Given the description of an element on the screen output the (x, y) to click on. 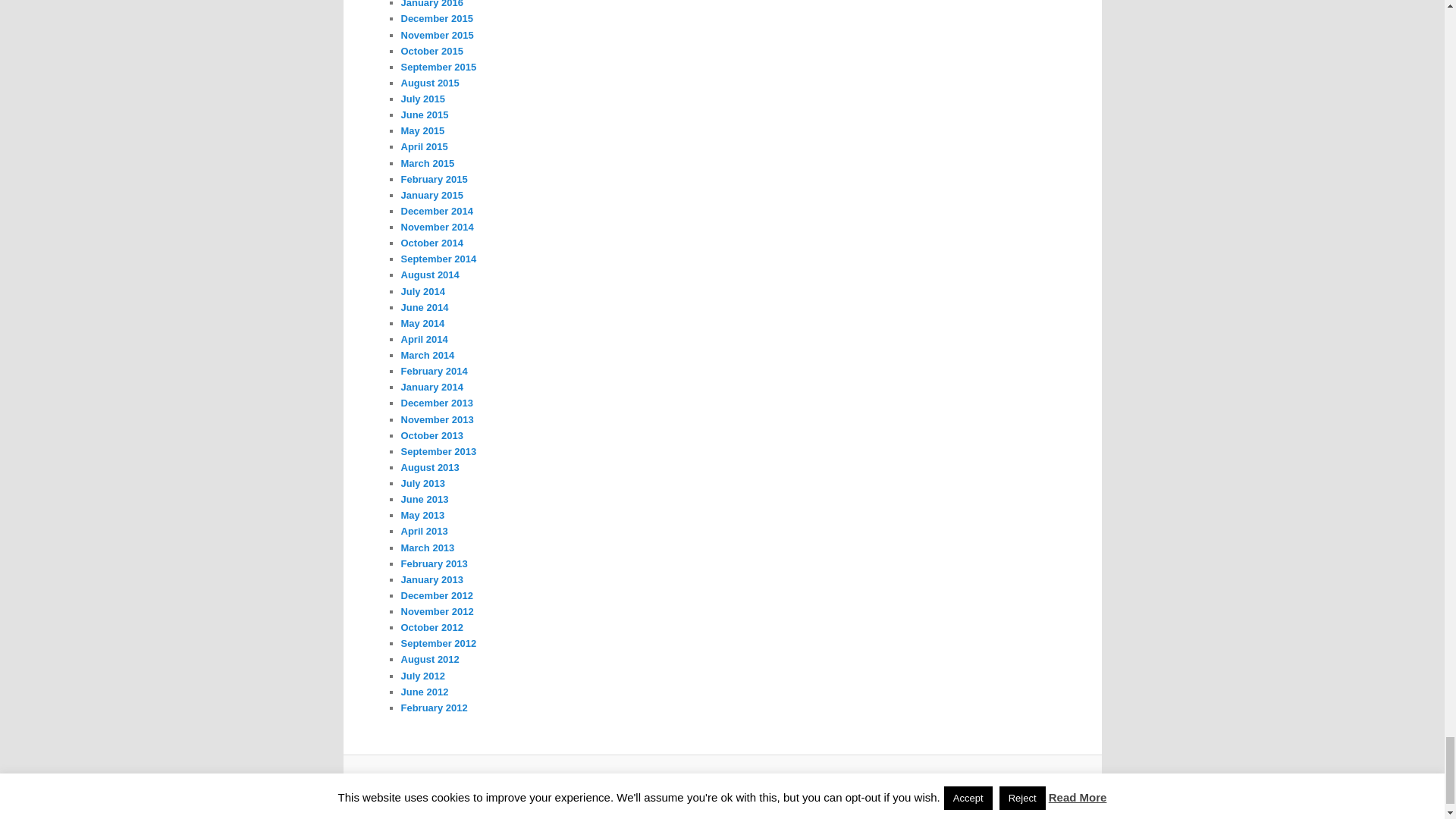
Semantic Personal Publishing Platform (749, 784)
